Given the description of an element on the screen output the (x, y) to click on. 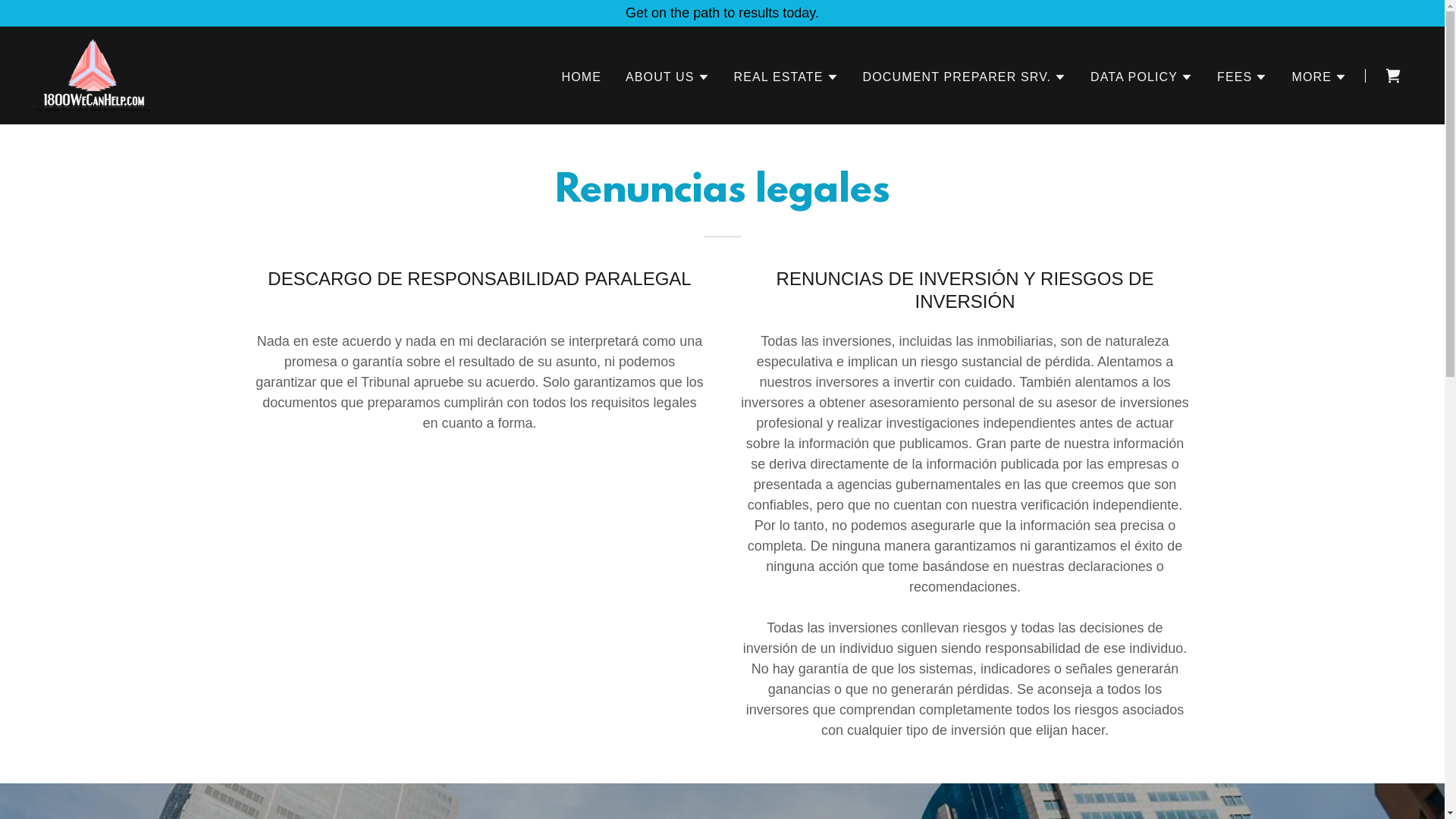
DOCUMENT PREPARER SRV. Element type: text (964, 77)
FEES Element type: text (1242, 77)
REAL ESTATE Element type: text (786, 77)
ABOUT US Element type: text (667, 77)
HOME Element type: text (580, 77)
DATA POLICY Element type: text (1141, 77)
MORE Element type: text (1318, 77)
 1800WeCanHelp.com  Element type: hover (92, 73)
